Given the description of an element on the screen output the (x, y) to click on. 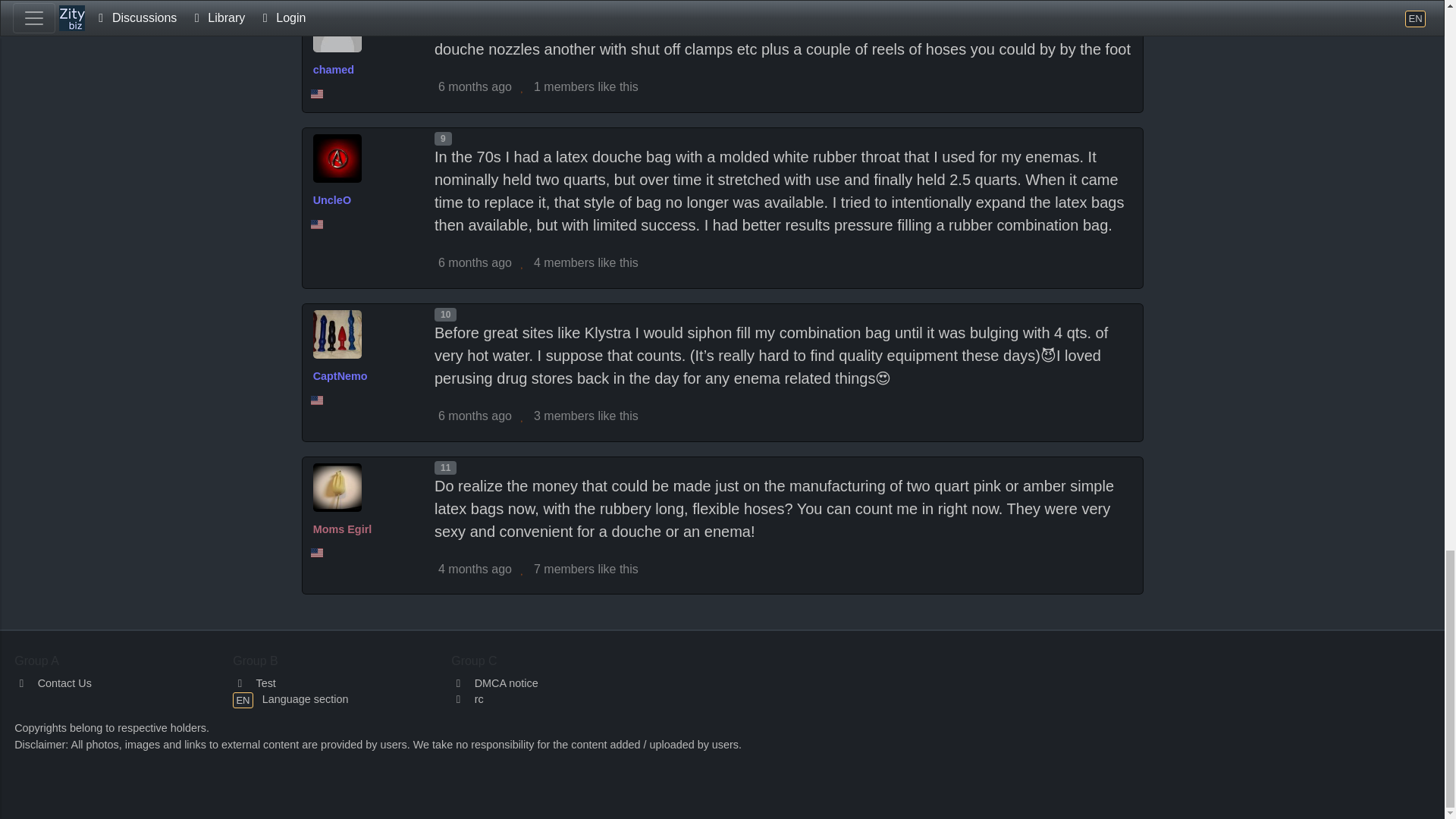
  DMCA notice (494, 683)
  Contact Us (52, 683)
  Test (254, 683)
EN   Language section (289, 698)
  rc (467, 698)
